Given the description of an element on the screen output the (x, y) to click on. 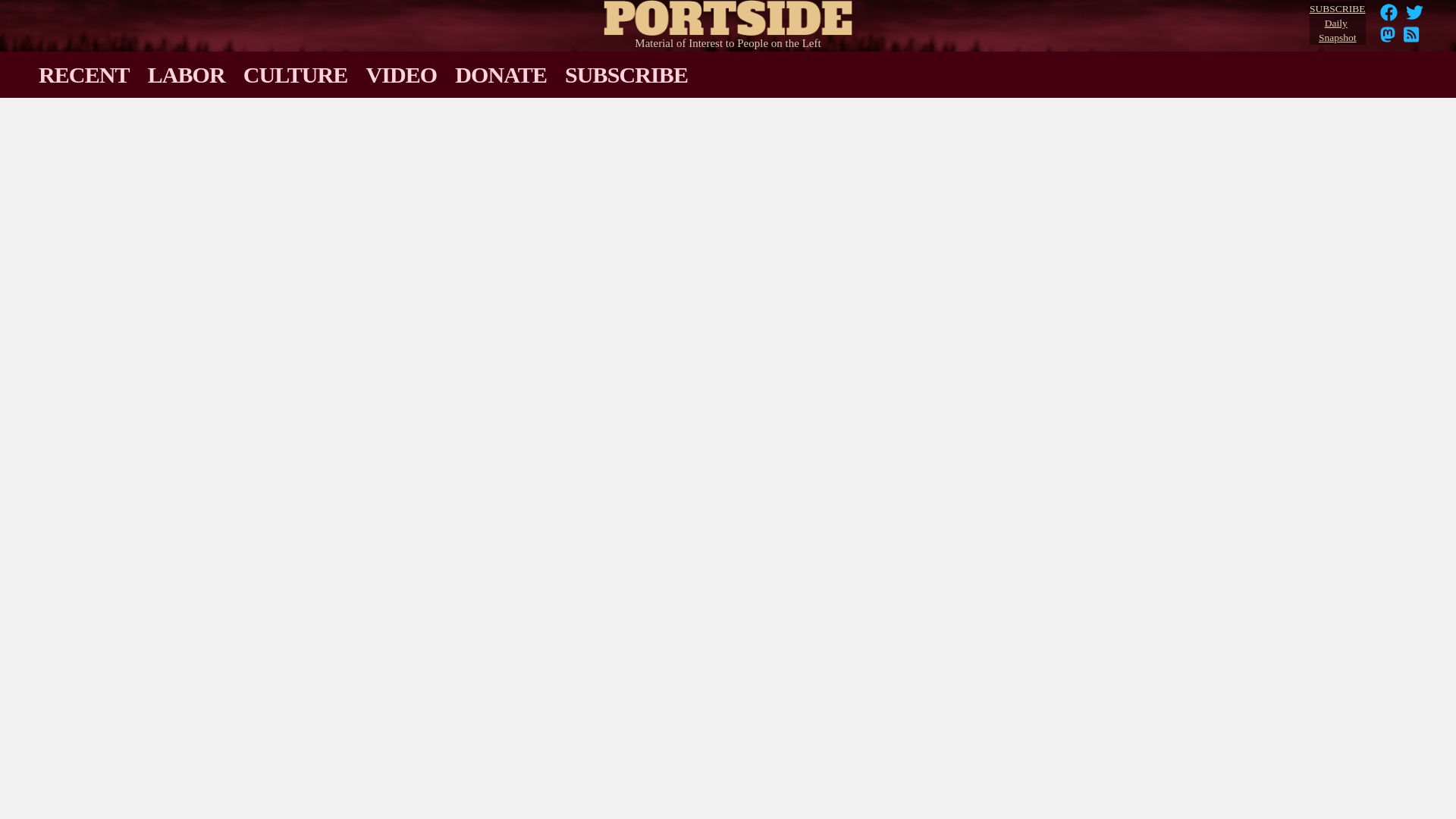
Facebook (1388, 11)
Home (727, 14)
Follow Portside on Mastodon (1387, 39)
Facebook (1388, 16)
Twitter (1336, 23)
Follow Portside's RSS feed (1414, 16)
Mastodon (1411, 39)
RSS (1387, 39)
